Given the description of an element on the screen output the (x, y) to click on. 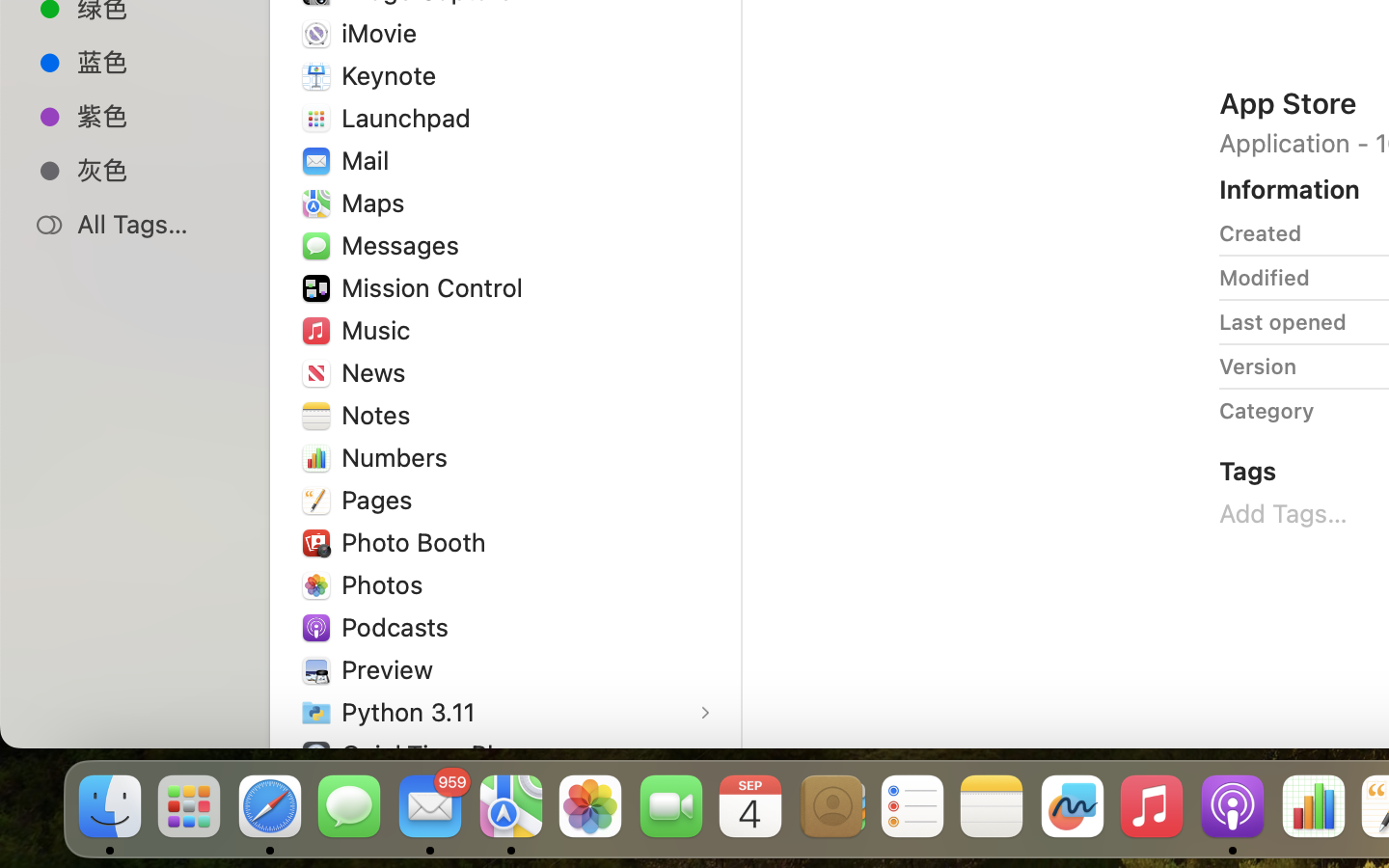
灰色 Element type: AXStaticText (155, 169)
Preview Element type: AXTextField (391, 668)
News Element type: AXTextField (377, 371)
Keynote Element type: AXTextField (393, 74)
紫色 Element type: AXStaticText (155, 115)
